Given the description of an element on the screen output the (x, y) to click on. 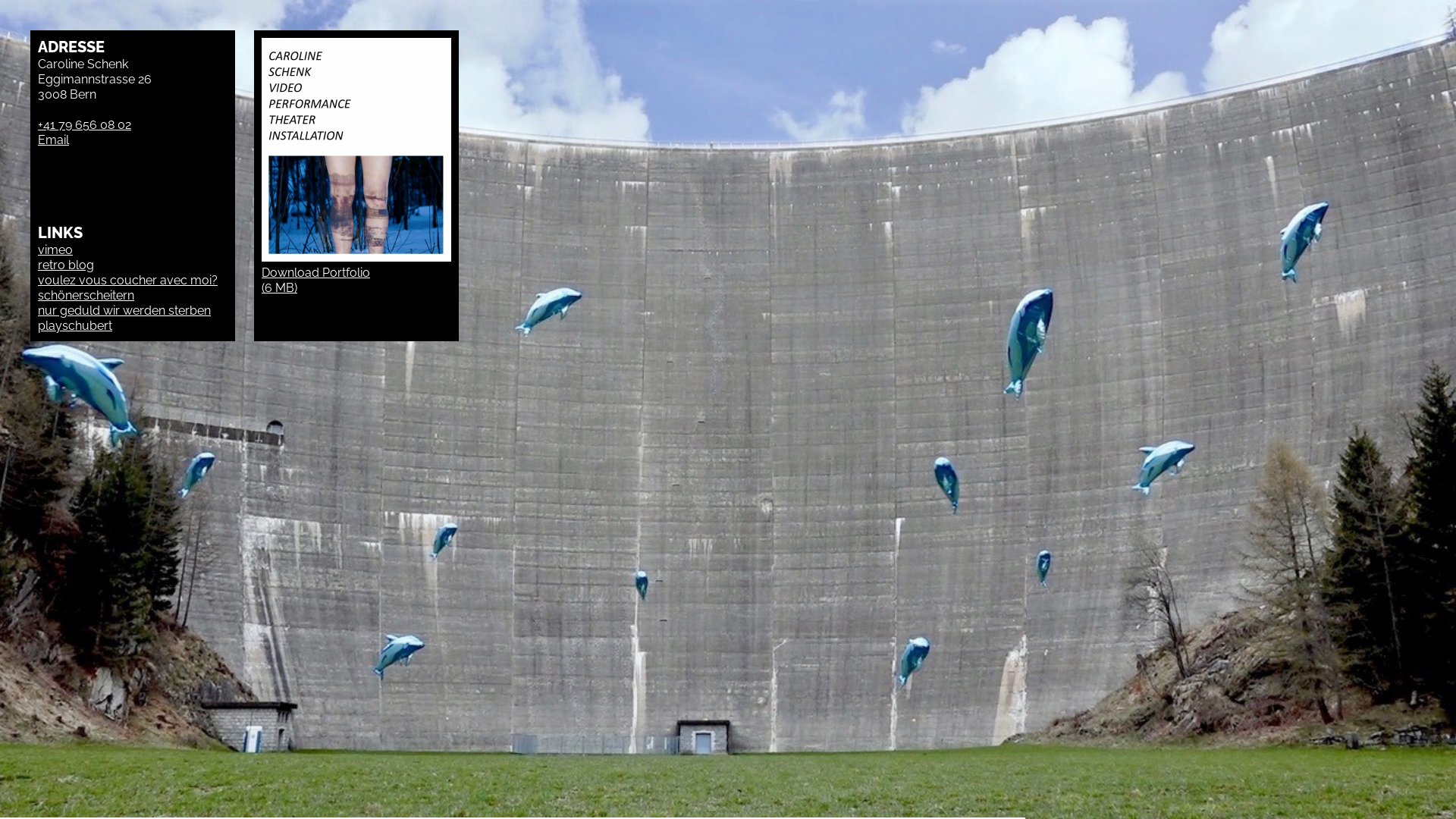
Download Portfolio
(6 MB) Element type: text (356, 166)
playschubert Element type: text (74, 325)
+41 79 656 08 02 Element type: text (84, 124)
nur geduld wir werden sterben Element type: text (123, 310)
vimeo Element type: text (54, 249)
Email Element type: text (53, 139)
retro blog Element type: text (65, 272)
voulez vous coucher avec moi? Element type: text (127, 287)
